Given the description of an element on the screen output the (x, y) to click on. 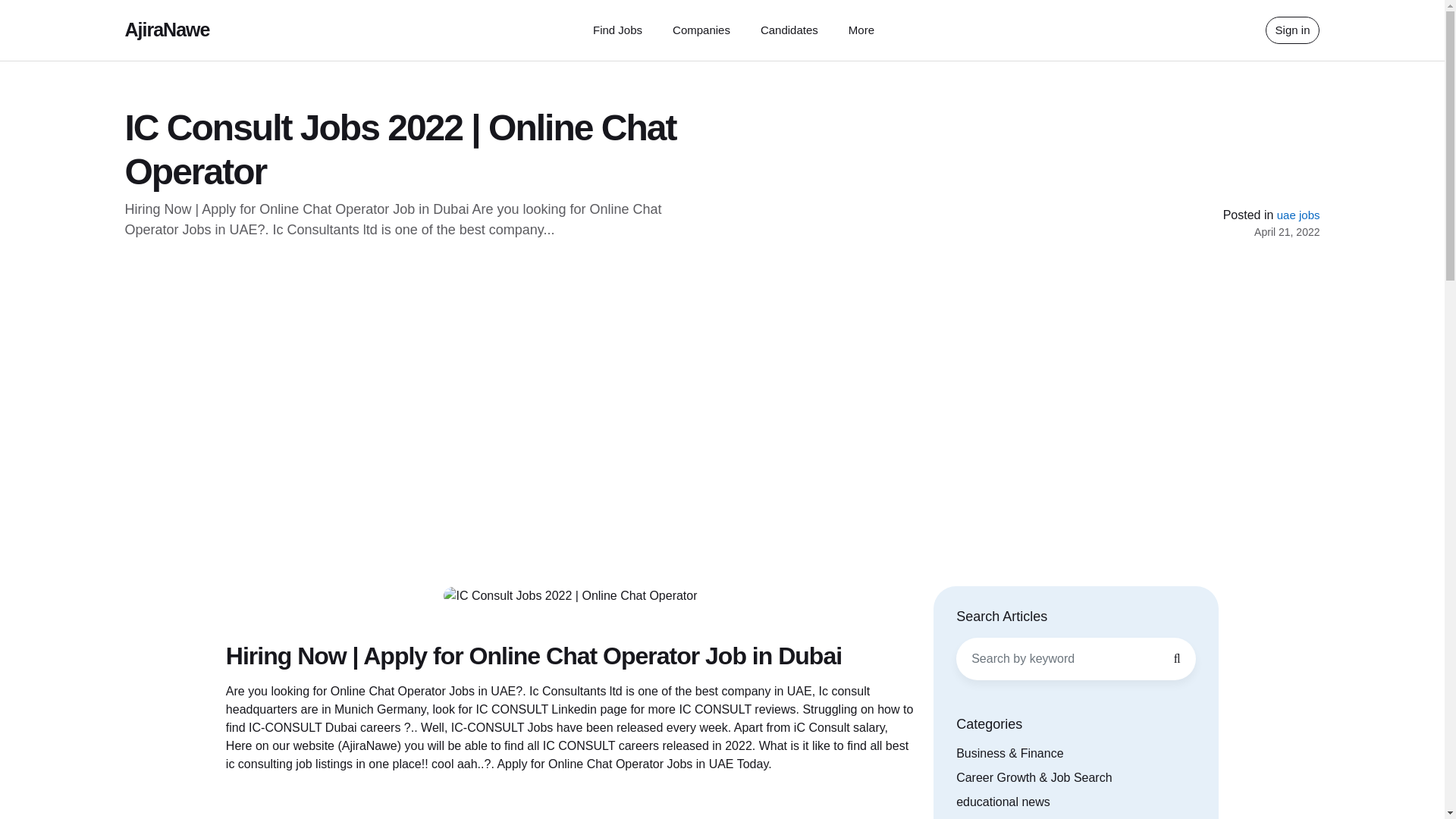
uae jobs (1298, 214)
View all posts in uae jobs (1298, 214)
More (860, 29)
Sign in (1292, 30)
Find Jobs (618, 29)
Companies (701, 29)
AjiraNawe (166, 29)
Candidates (788, 29)
